Given the description of an element on the screen output the (x, y) to click on. 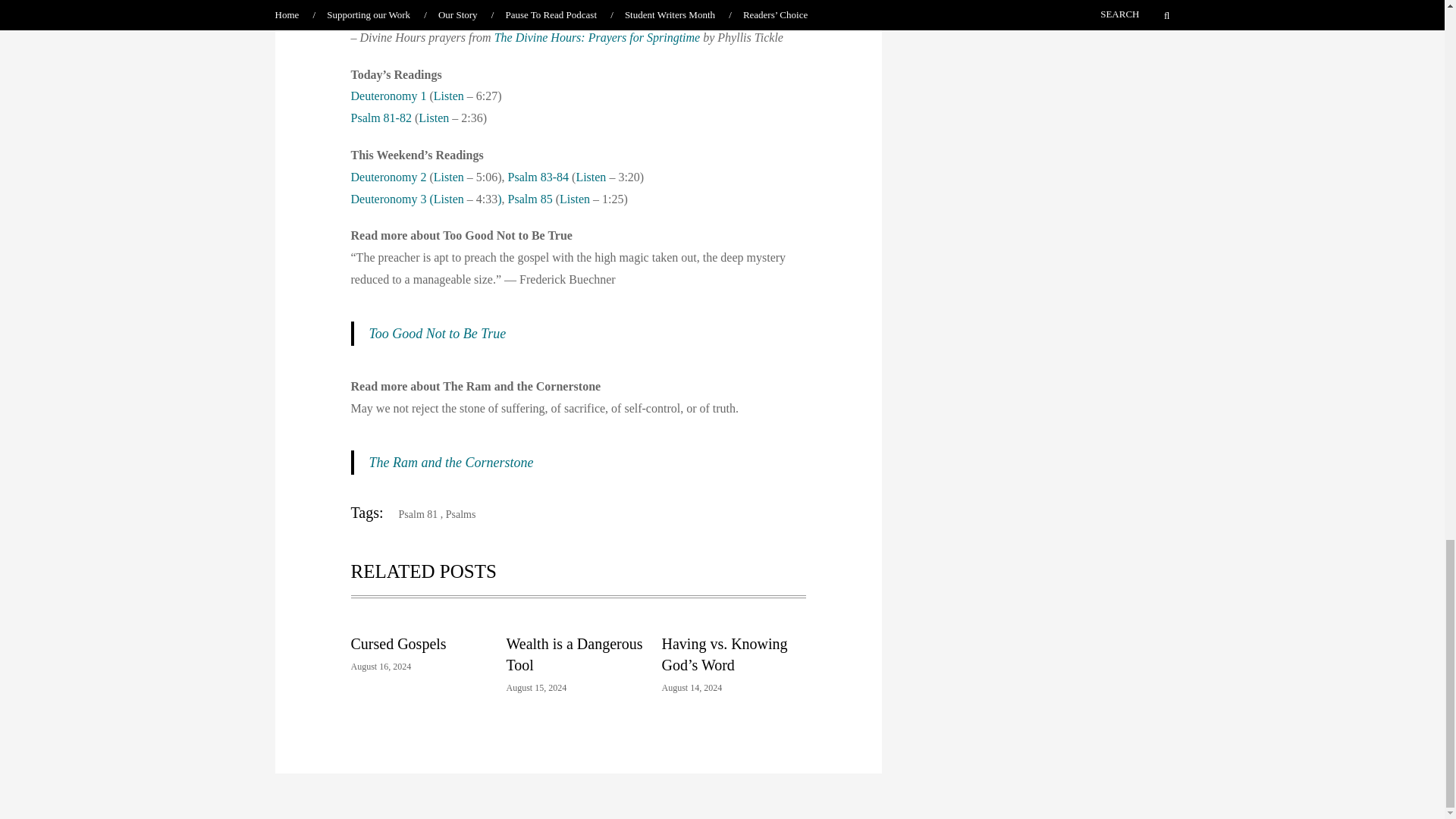
Cursed Gospels (397, 643)
Listen (433, 117)
Psalm 81 (412, 514)
Listen (448, 176)
Listen (448, 95)
The Divine Hours: Prayers for Springtime (597, 37)
Psalm 83-84 (538, 176)
Psalm 81-82 (380, 117)
Too Good Not to Be True (436, 333)
Listen (448, 198)
